Given the description of an element on the screen output the (x, y) to click on. 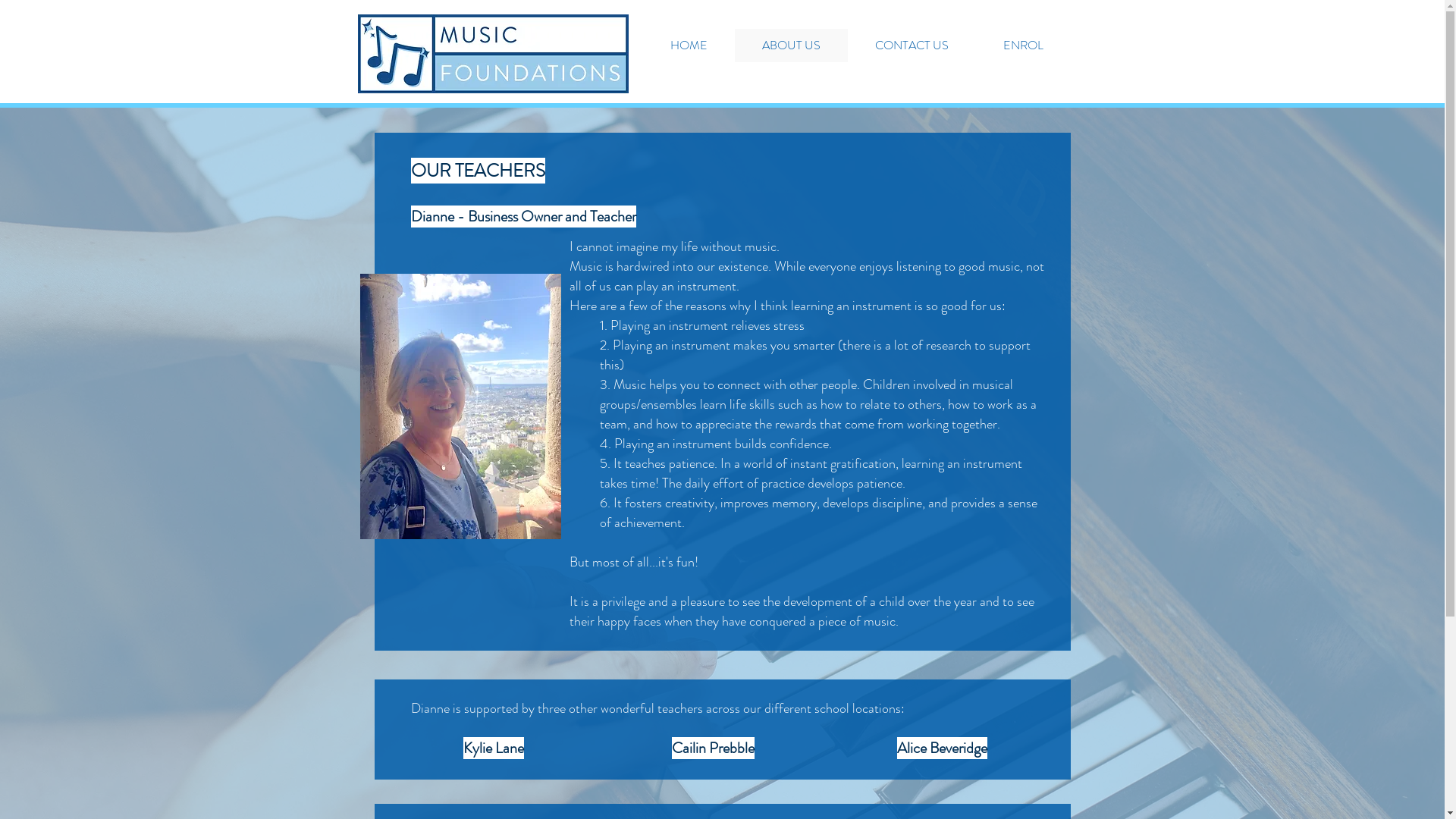
HOME Element type: text (688, 45)
ENROL Element type: text (1022, 45)
ABOUT US Element type: text (790, 45)
CONTACT US Element type: text (911, 45)
